Given the description of an element on the screen output the (x, y) to click on. 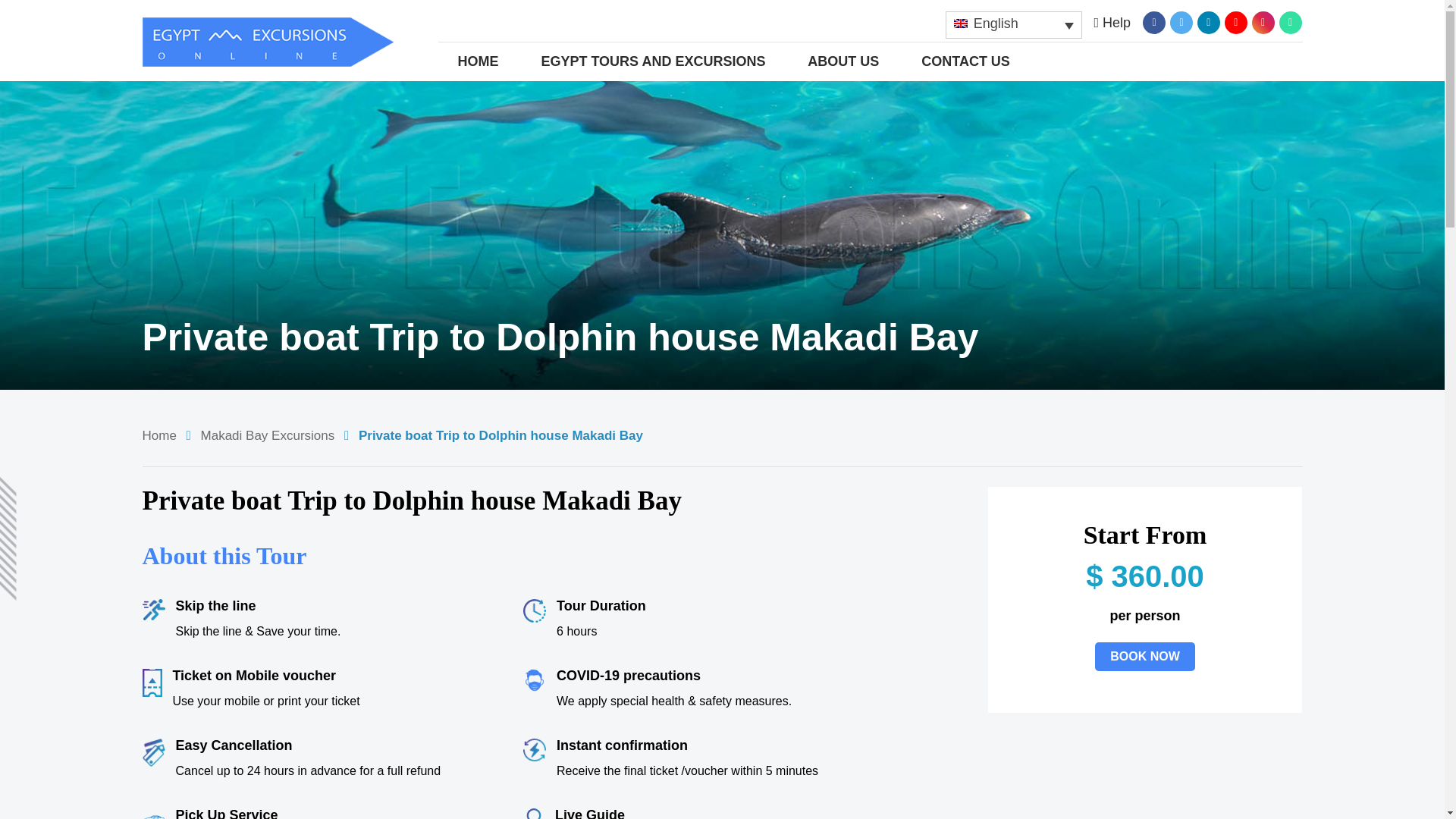
ABOUT US (843, 61)
HOME (478, 61)
BOOK NOW (1144, 656)
Home (159, 435)
English (1012, 24)
EGYPT TOURS AND EXCURSIONS (652, 61)
Help (1112, 22)
CONTACT US (965, 61)
Makadi Bay Excursions (267, 435)
